Given the description of an element on the screen output the (x, y) to click on. 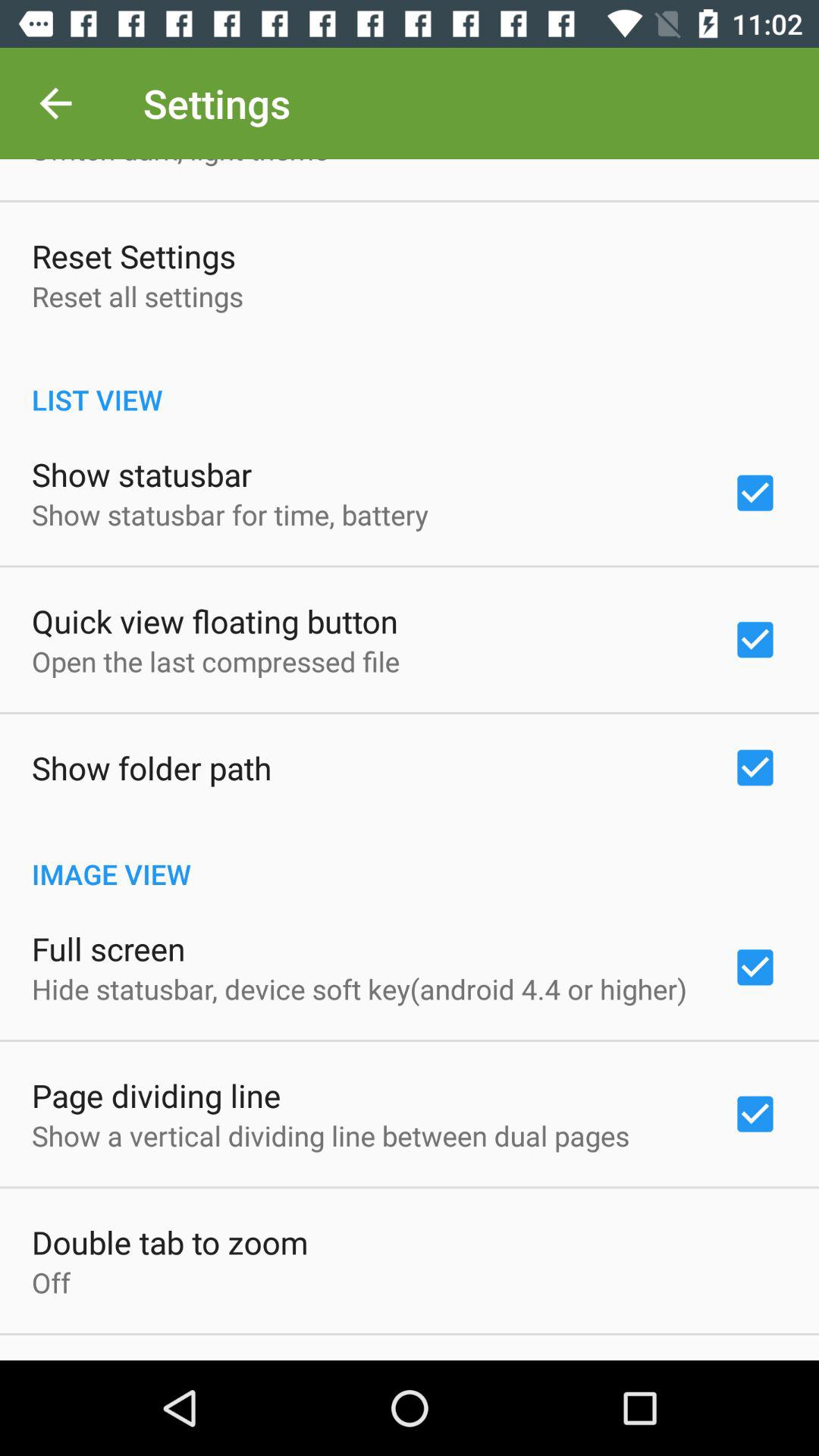
launch image view icon (409, 857)
